Given the description of an element on the screen output the (x, y) to click on. 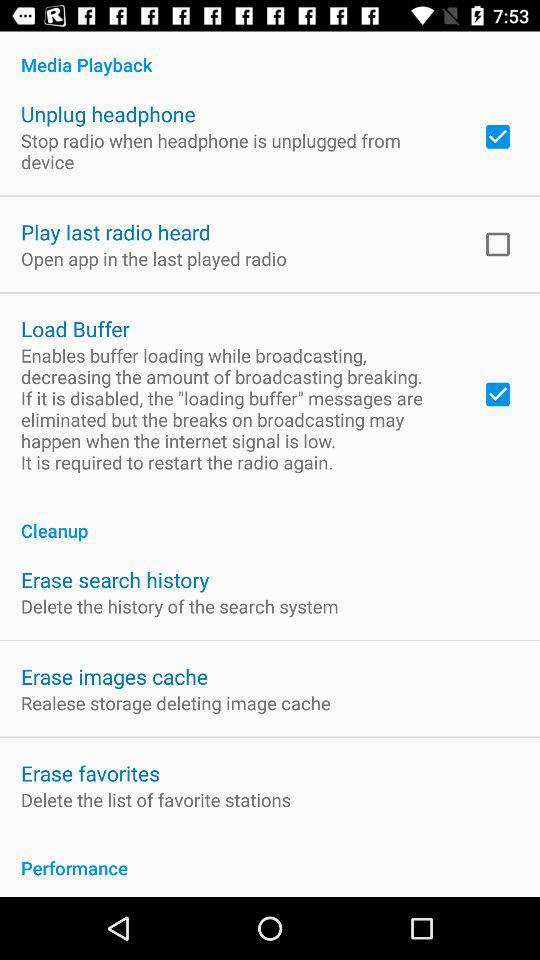
swipe until the unplug headphone item (108, 113)
